Given the description of an element on the screen output the (x, y) to click on. 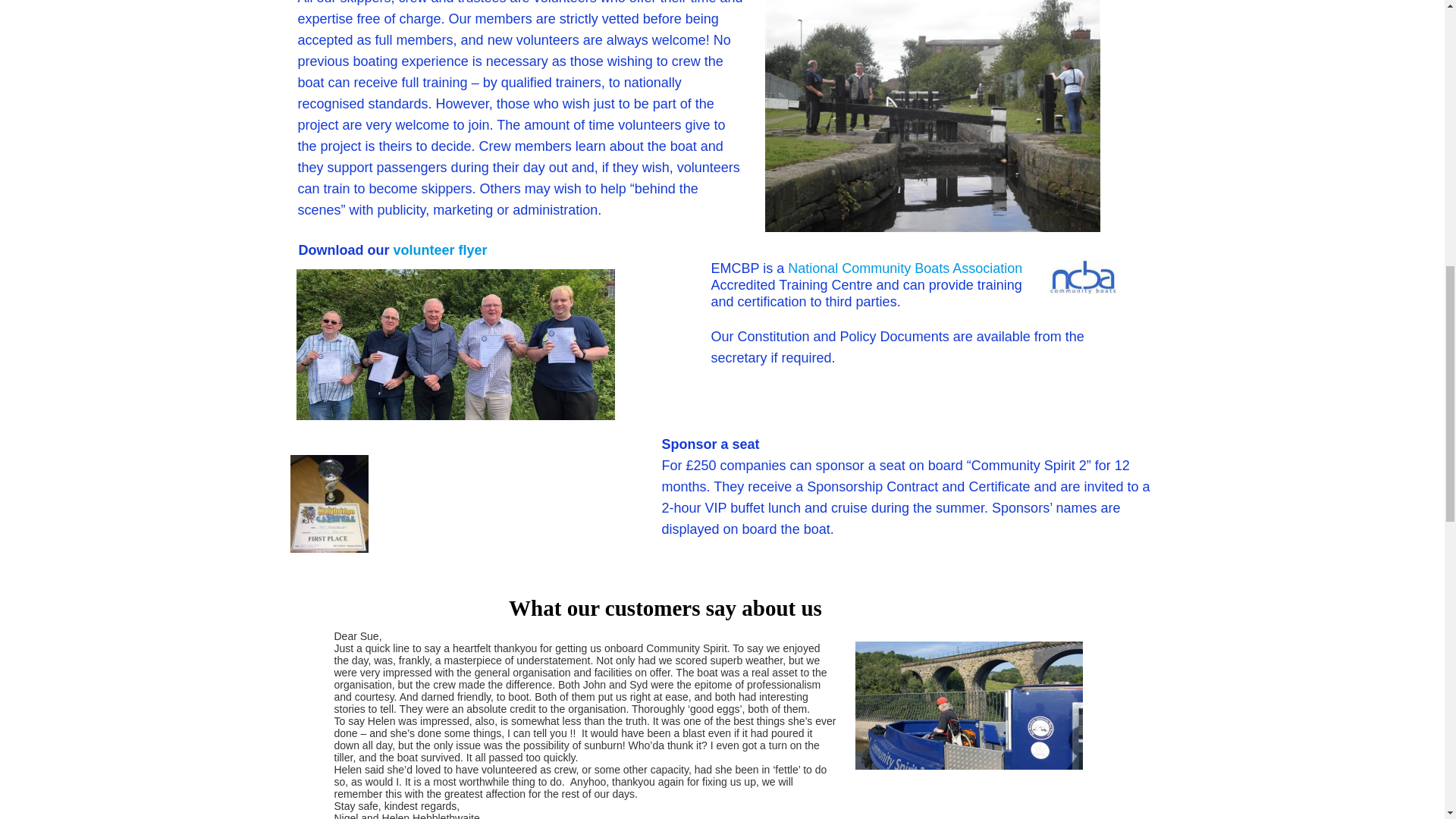
NCBA (1082, 277)
volunteer flyer (439, 249)
Some of our members with their certificates (454, 344)
Helen Hebblethwaite on CS2 (969, 705)
National Community Boats Association (904, 268)
